Given the description of an element on the screen output the (x, y) to click on. 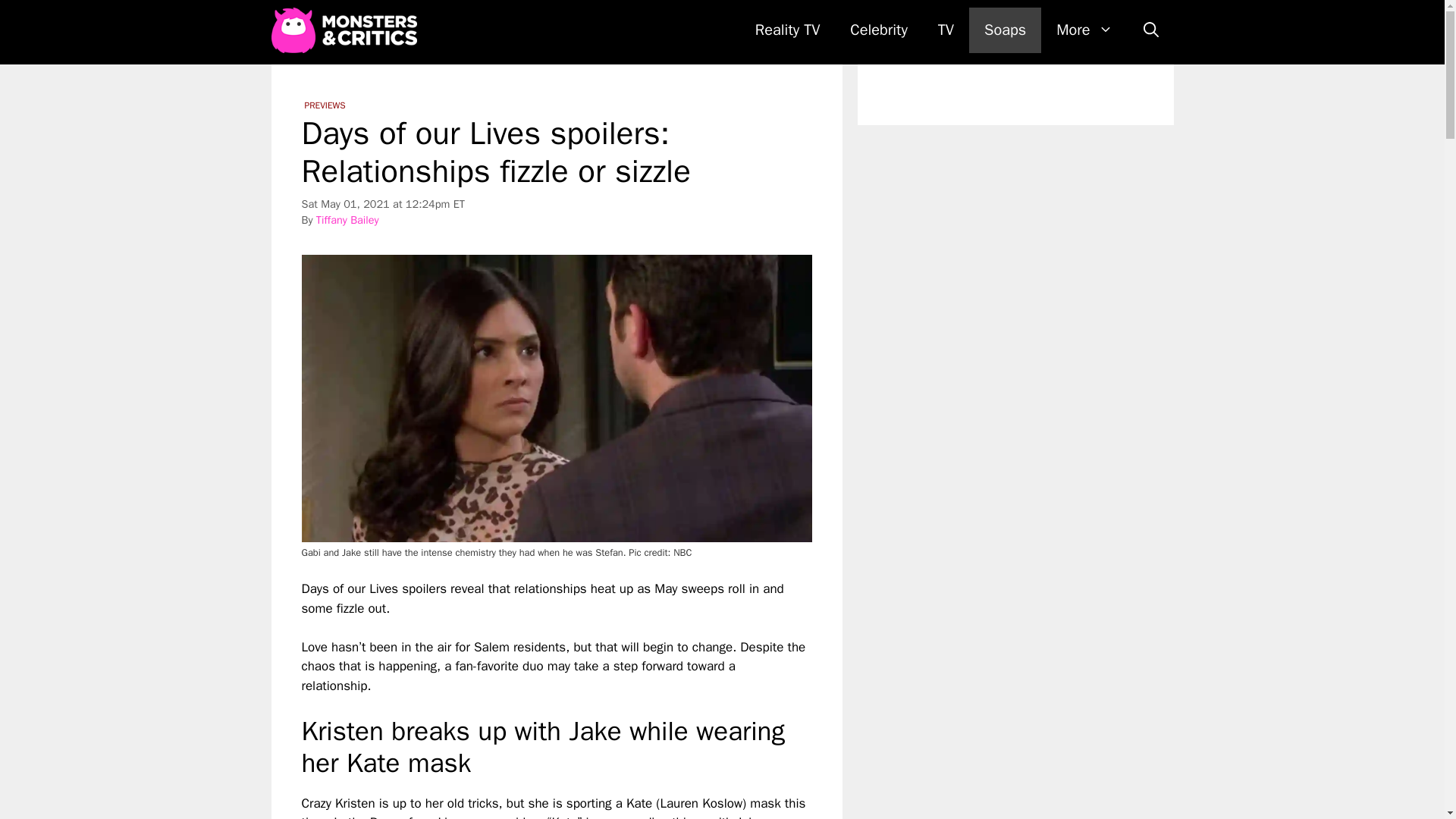
Monsters and Critics (343, 30)
View all posts by Tiffany Bailey (346, 219)
Tiffany Bailey (346, 219)
Monsters and Critics (347, 30)
More (1083, 30)
TV (946, 30)
Soaps (1005, 30)
Reality TV (787, 30)
Celebrity (877, 30)
